Given the description of an element on the screen output the (x, y) to click on. 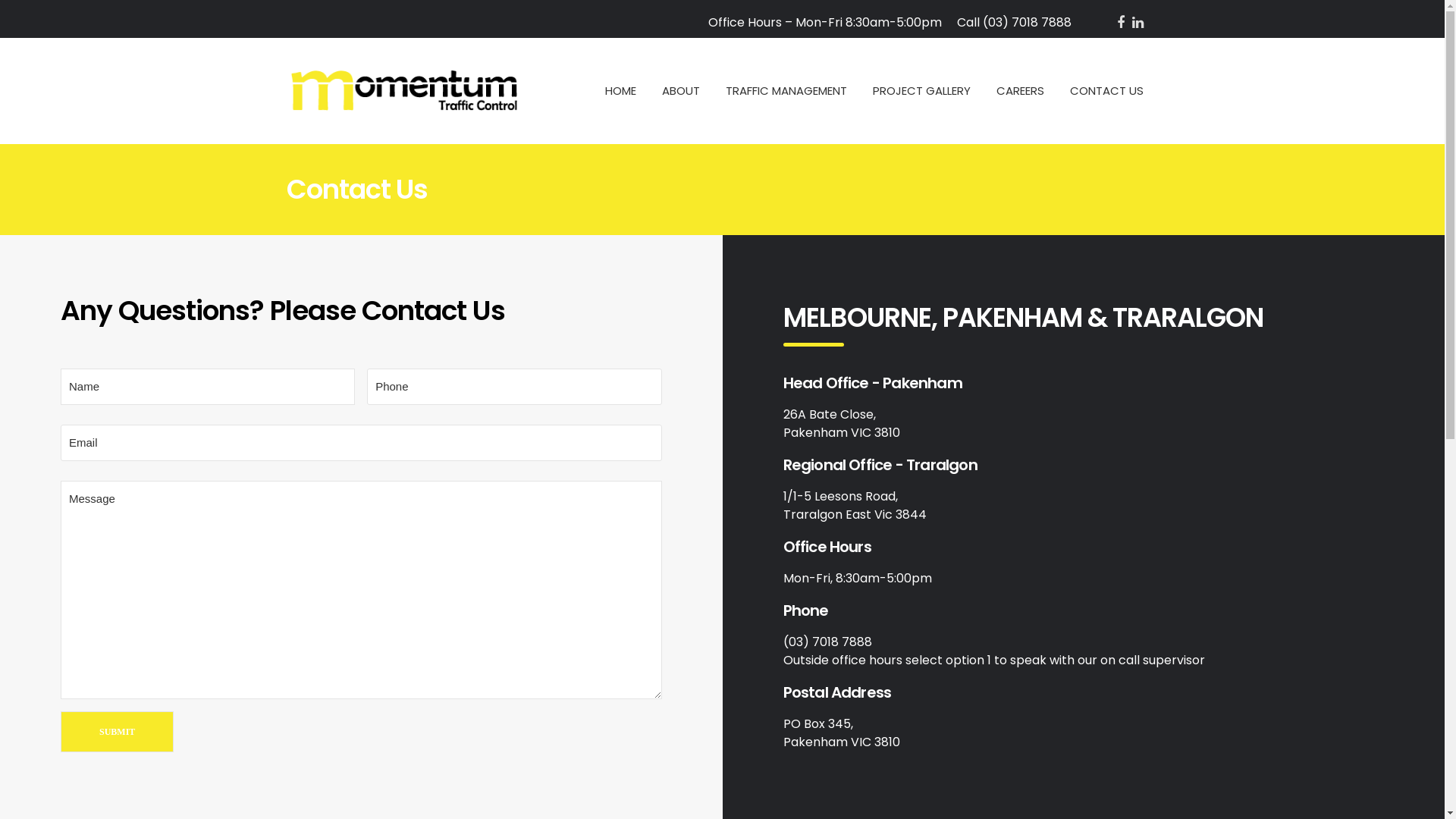
HOME Element type: text (620, 90)
Submit Element type: text (116, 731)
PROJECT GALLERY Element type: text (920, 90)
TRAFFIC MANAGEMENT Element type: text (785, 90)
CONTACT US Element type: text (1105, 90)
ABOUT Element type: text (680, 90)
(03) 7018 7888 Element type: text (1026, 22)
CAREERS Element type: text (1020, 90)
